Given the description of an element on the screen output the (x, y) to click on. 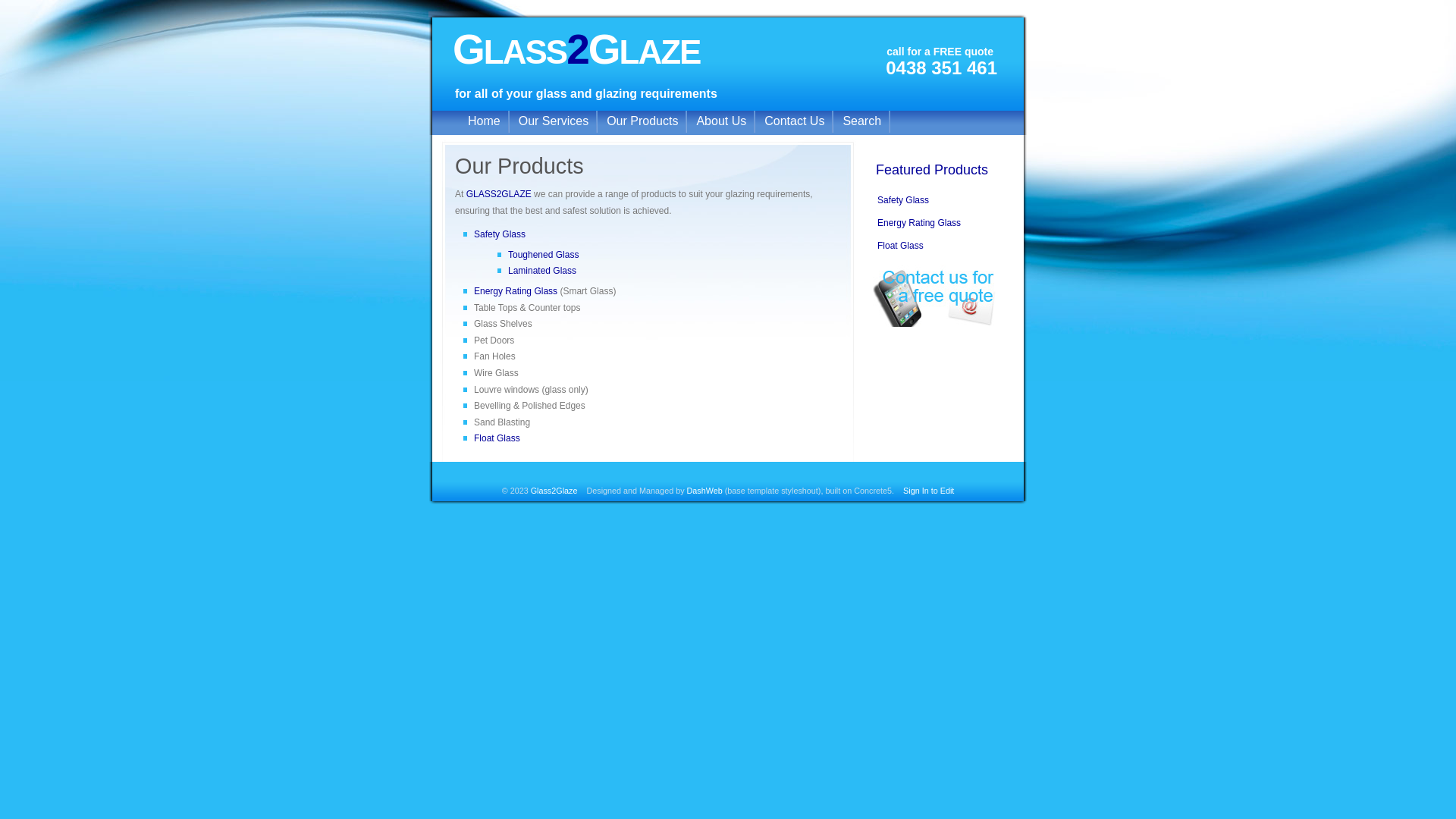
Float Glass Element type: text (900, 245)
GLASS2GLAZE Element type: text (575, 49)
Contact Us Element type: text (794, 121)
Sign In to Edit Element type: text (928, 490)
Safety Glass Element type: text (902, 199)
Laminated Glass Element type: text (542, 270)
Safety Glass Element type: text (499, 234)
Our Products Element type: text (642, 121)
Energy Rating Glass Element type: text (515, 290)
GLASS2GLAZE Element type: text (498, 193)
Energy Rating Glass Element type: text (918, 222)
Search Element type: text (861, 121)
DashWeb Element type: text (704, 490)
Float Glass Element type: text (496, 438)
About Us Element type: text (721, 121)
Concrete5 Element type: text (872, 490)
Home Element type: text (483, 121)
Toughened Glass Element type: text (543, 254)
styleshout Element type: text (799, 490)
Our Services Element type: text (553, 121)
Contact Us Element type: hover (934, 295)
Glass2Glaze Element type: text (553, 490)
